Given the description of an element on the screen output the (x, y) to click on. 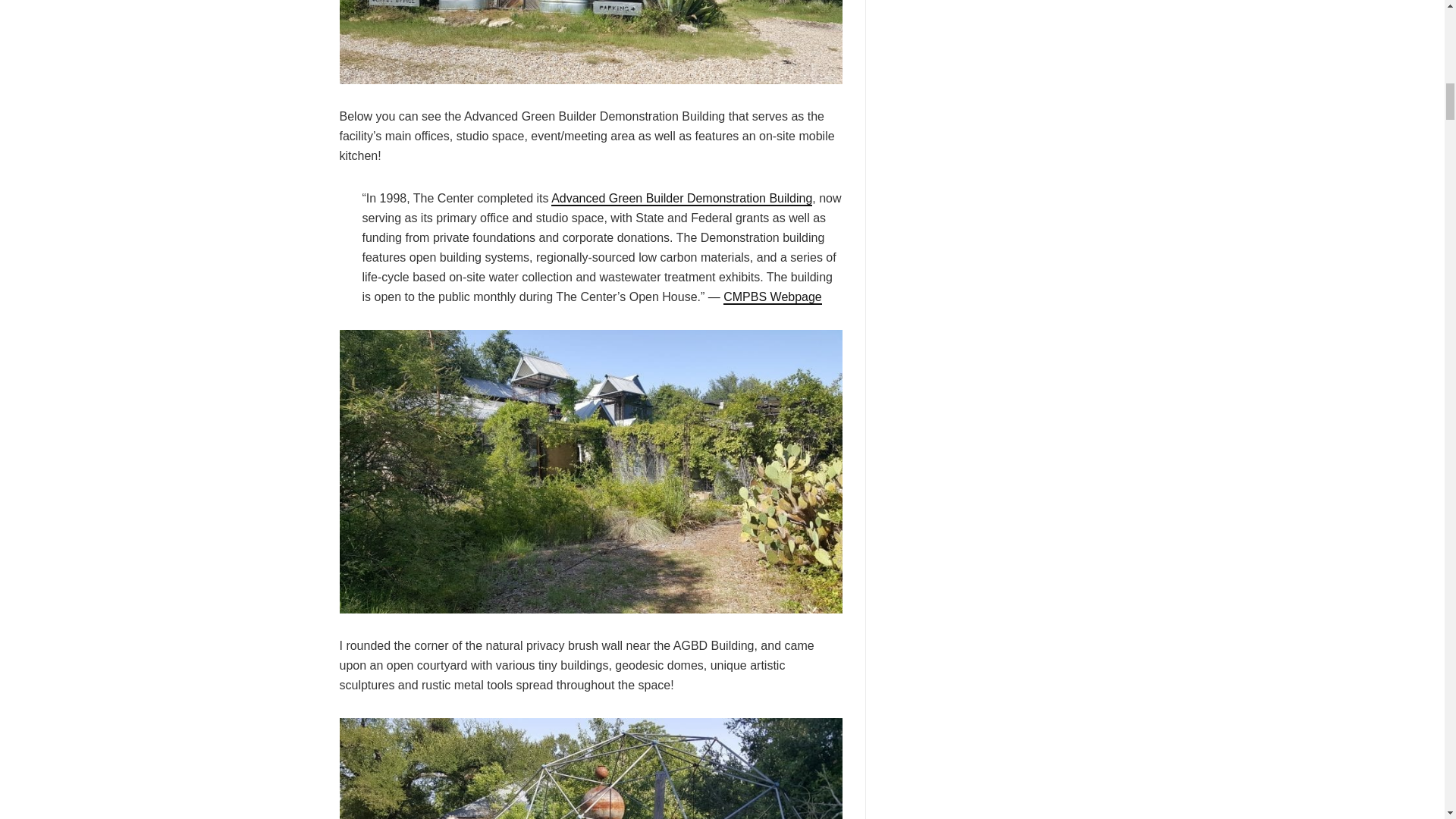
Advanced Green Builder Demonstration Building (681, 198)
CMPBS Webpage (772, 297)
